Given the description of an element on the screen output the (x, y) to click on. 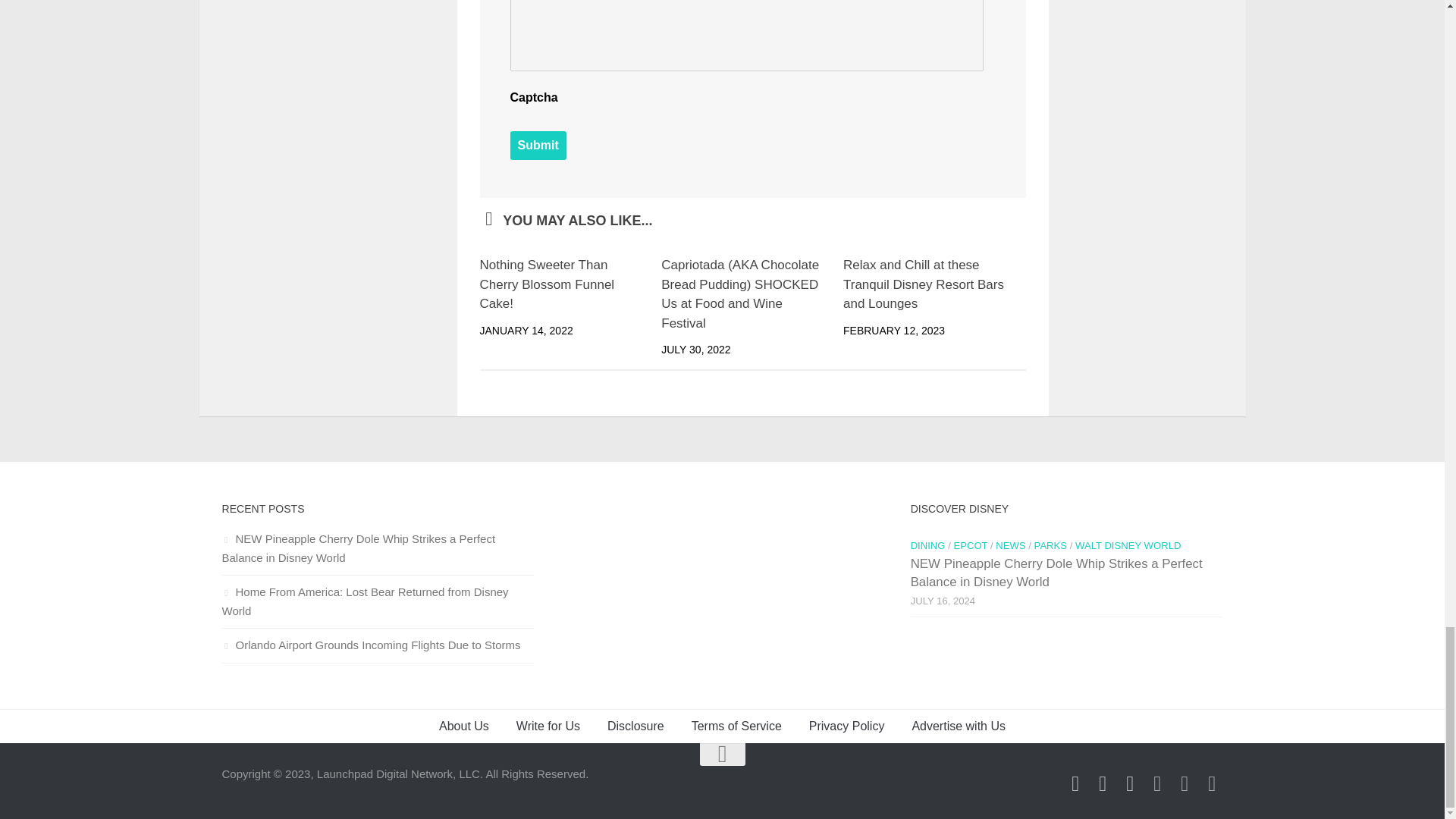
Follow us on Facebook (1075, 783)
Submit (537, 145)
Follow us on Instagram (1102, 783)
Follow us on Twitter (1129, 783)
